Given the description of an element on the screen output the (x, y) to click on. 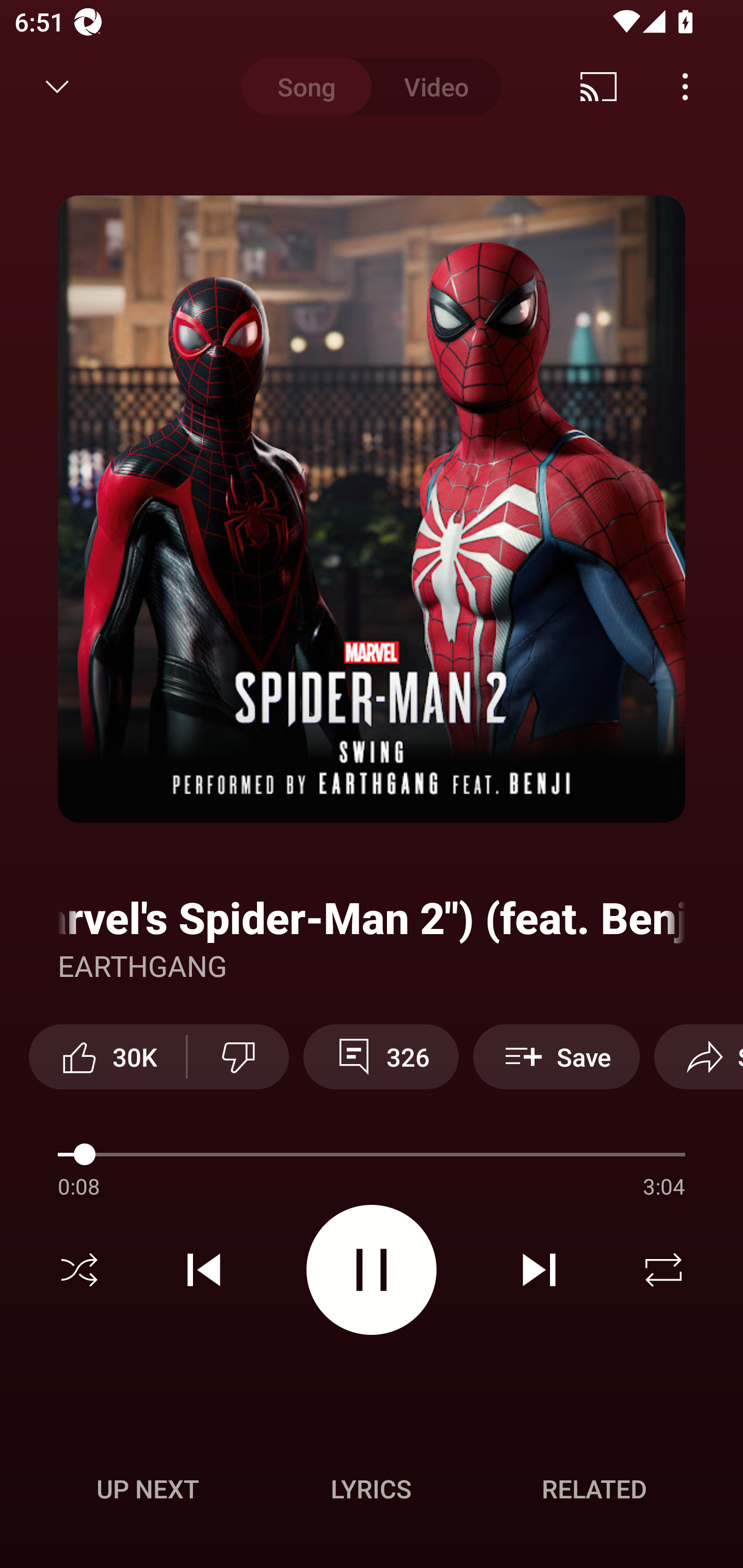
Minimize (57, 86)
Cast. Disconnected (598, 86)
Menu (684, 86)
30K like this video along with 30,883 other people (106, 1056)
Dislike (238, 1056)
326 View 326 comments (380, 1056)
Save Save to playlist (556, 1056)
Share (698, 1056)
Pause video (371, 1269)
Shuffle off (79, 1269)
Previous track (203, 1269)
Next track (538, 1269)
Repeat off (663, 1269)
Up next UP NEXT Lyrics LYRICS Related RELATED (371, 1491)
Lyrics LYRICS (370, 1488)
Related RELATED (594, 1488)
